Given the description of an element on the screen output the (x, y) to click on. 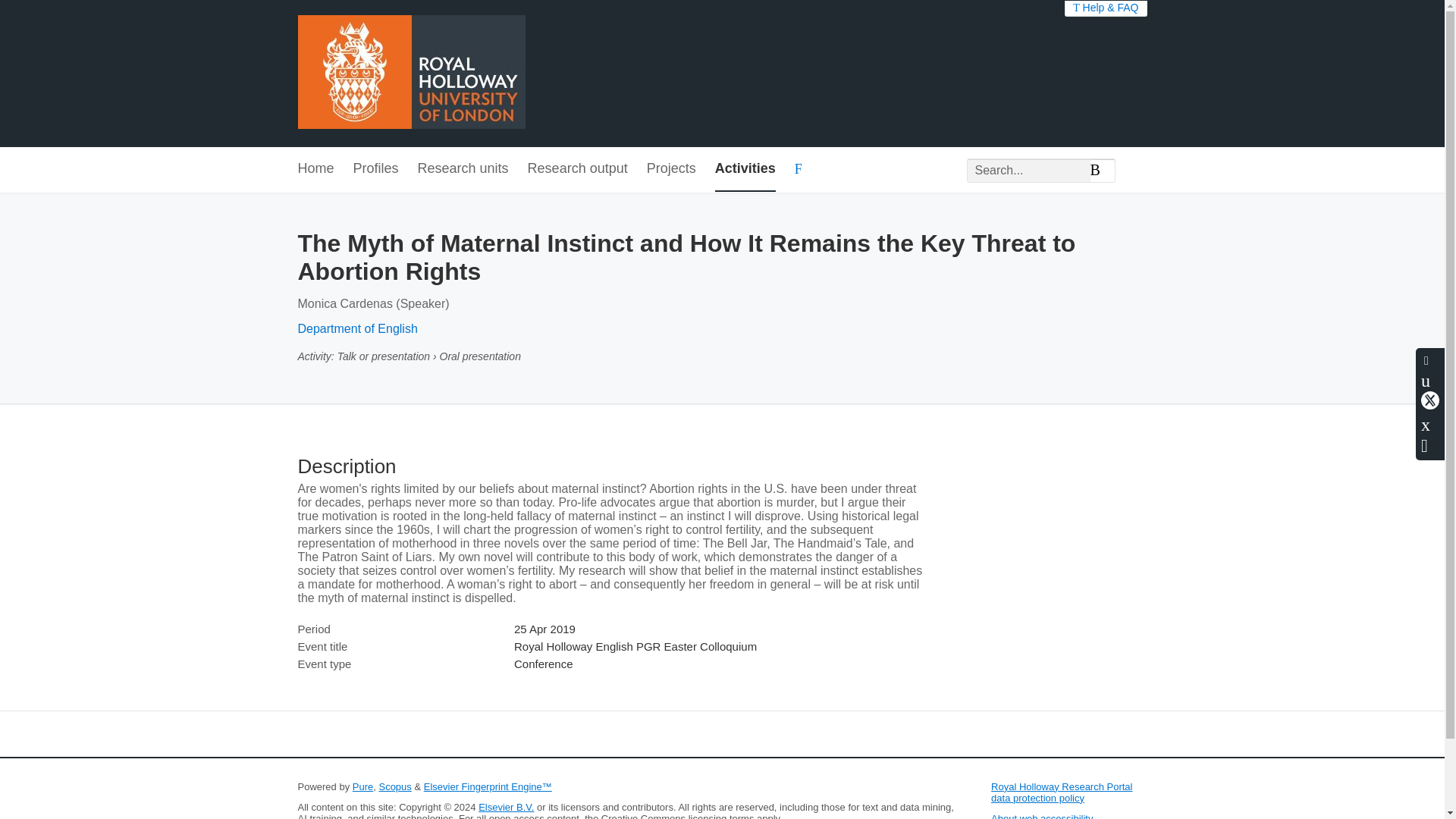
Royal Holloway Research Portal data protection policy (1061, 792)
About web accessibility (1042, 816)
Research units (462, 169)
Pure (362, 786)
Elsevier B.V. (506, 807)
Profiles (375, 169)
Scopus (394, 786)
Department of English (356, 328)
X (1430, 400)
Activities (745, 169)
Research output (577, 169)
Projects (670, 169)
Royal Holloway Research Portal Home (410, 73)
